Given the description of an element on the screen output the (x, y) to click on. 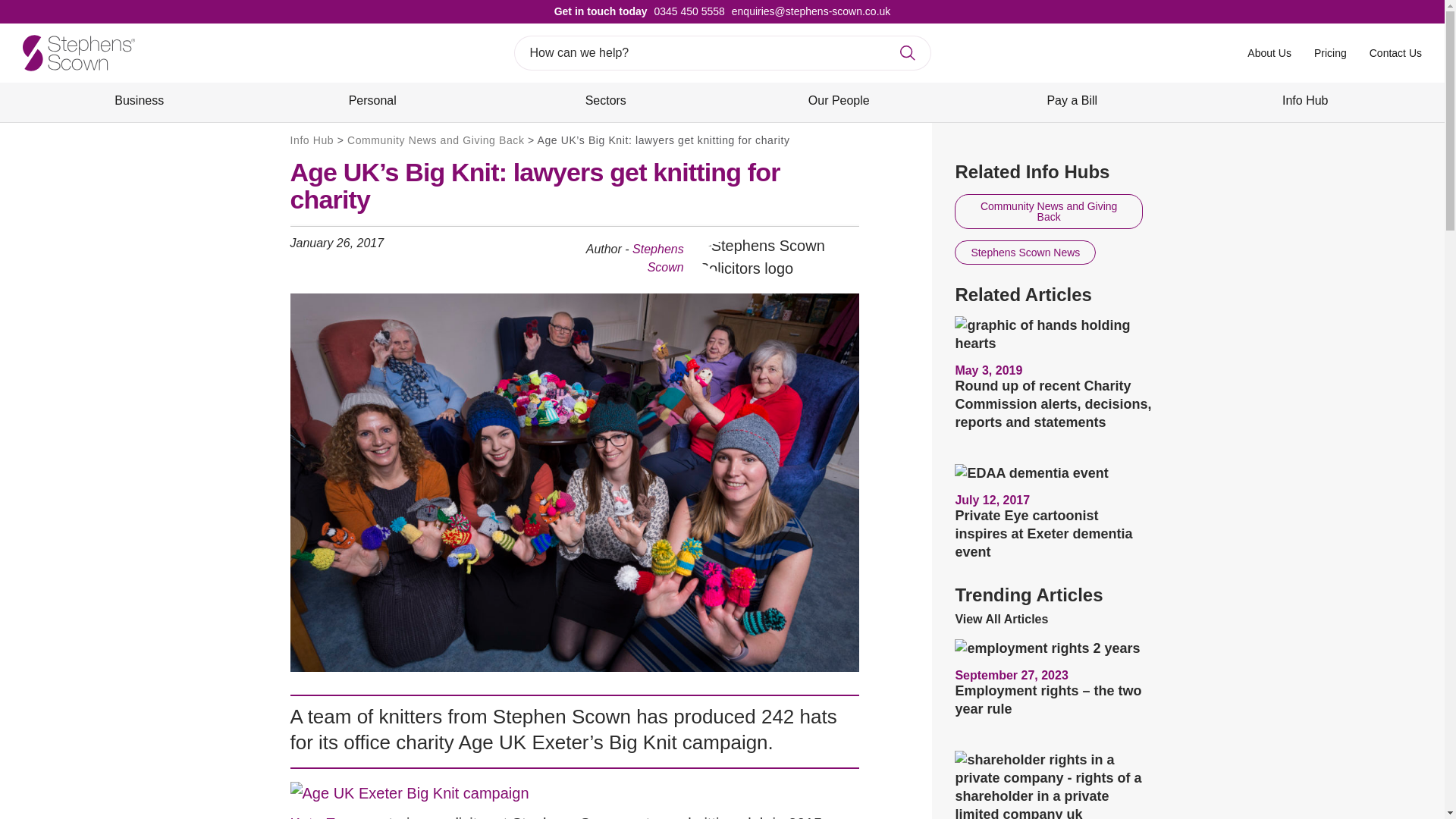
Go to the Info Hub Info hub Category archives. (311, 140)
About Us (1269, 52)
0345 450 5558 (686, 10)
Contact Us (1396, 52)
Posts by Stephens Scown (657, 257)
Pricing (1330, 52)
